Given the description of an element on the screen output the (x, y) to click on. 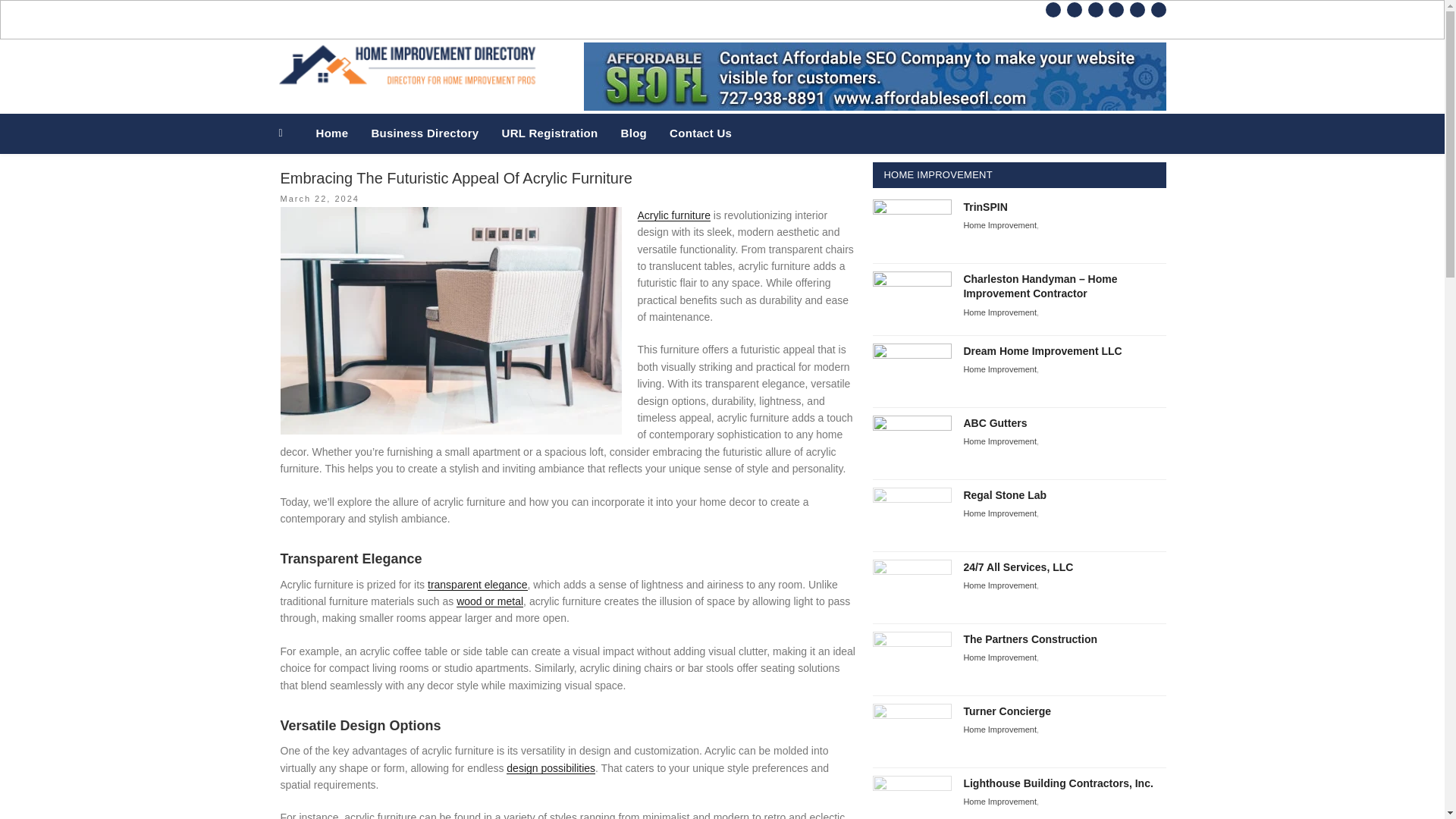
March 22, 2024 (320, 198)
Home Improvement (999, 800)
Contact Us (700, 133)
wood or metal (489, 601)
Blog (634, 133)
pinterest (1095, 9)
Home Improvement (999, 656)
Business Directory (424, 133)
HOME IMPROVEMENT COMPANIES AND NEWS (662, 102)
Home Improvement (999, 225)
Home Improvement (999, 311)
Acrylic furniture (673, 215)
Home Improvement (999, 225)
URL Registration (548, 133)
Home Improvement (999, 440)
